Given the description of an element on the screen output the (x, y) to click on. 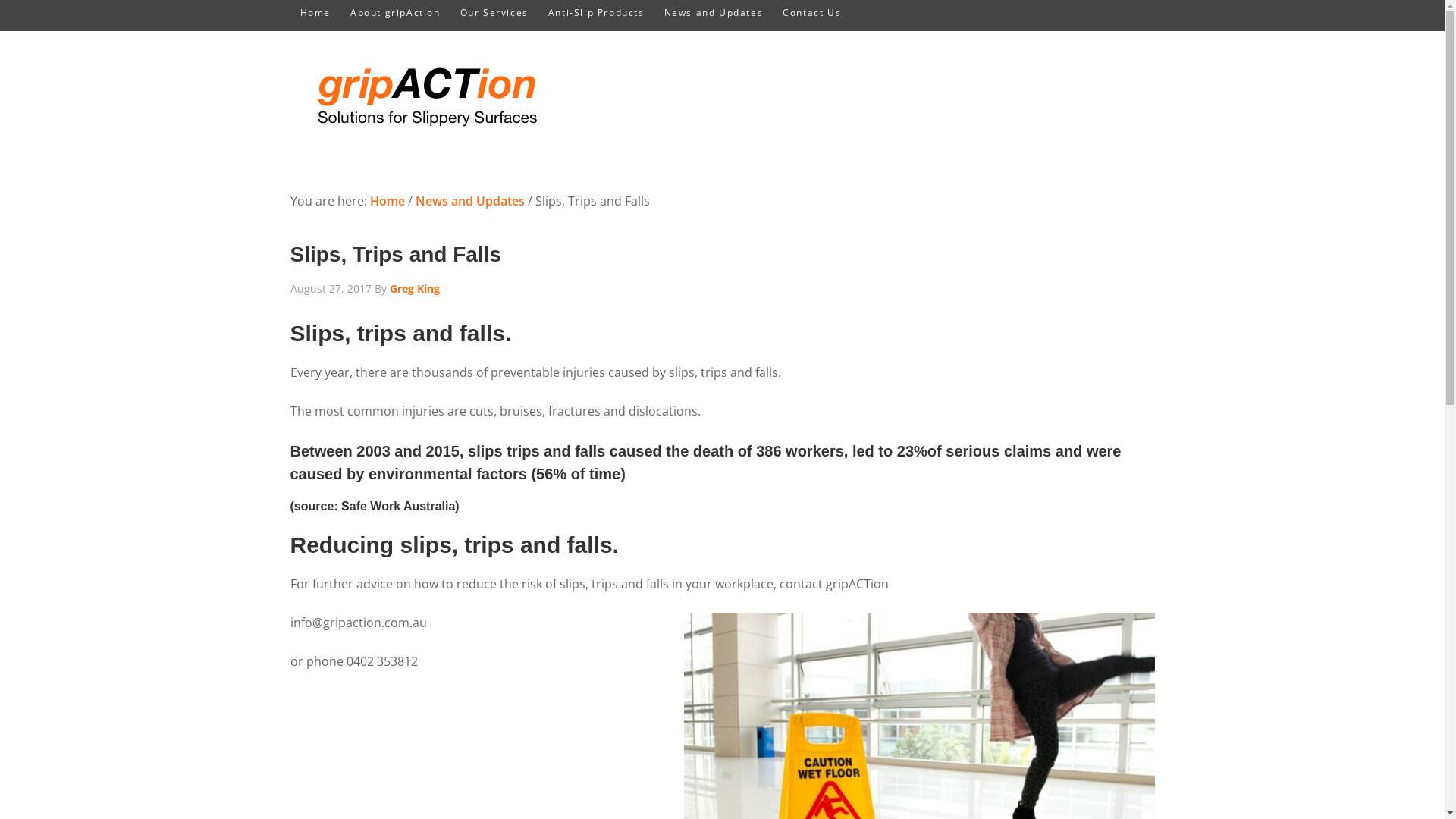
Greg King Element type: text (414, 288)
Home Element type: text (314, 12)
News and Updates Element type: text (713, 12)
About gripAction Element type: text (395, 12)
gripACTion Element type: text (425, 93)
Contact Us Element type: text (811, 12)
Home Element type: text (387, 200)
News and Updates Element type: text (469, 200)
Our Services Element type: text (494, 12)
Anti-Slip Products Element type: text (596, 12)
